Given the description of an element on the screen output the (x, y) to click on. 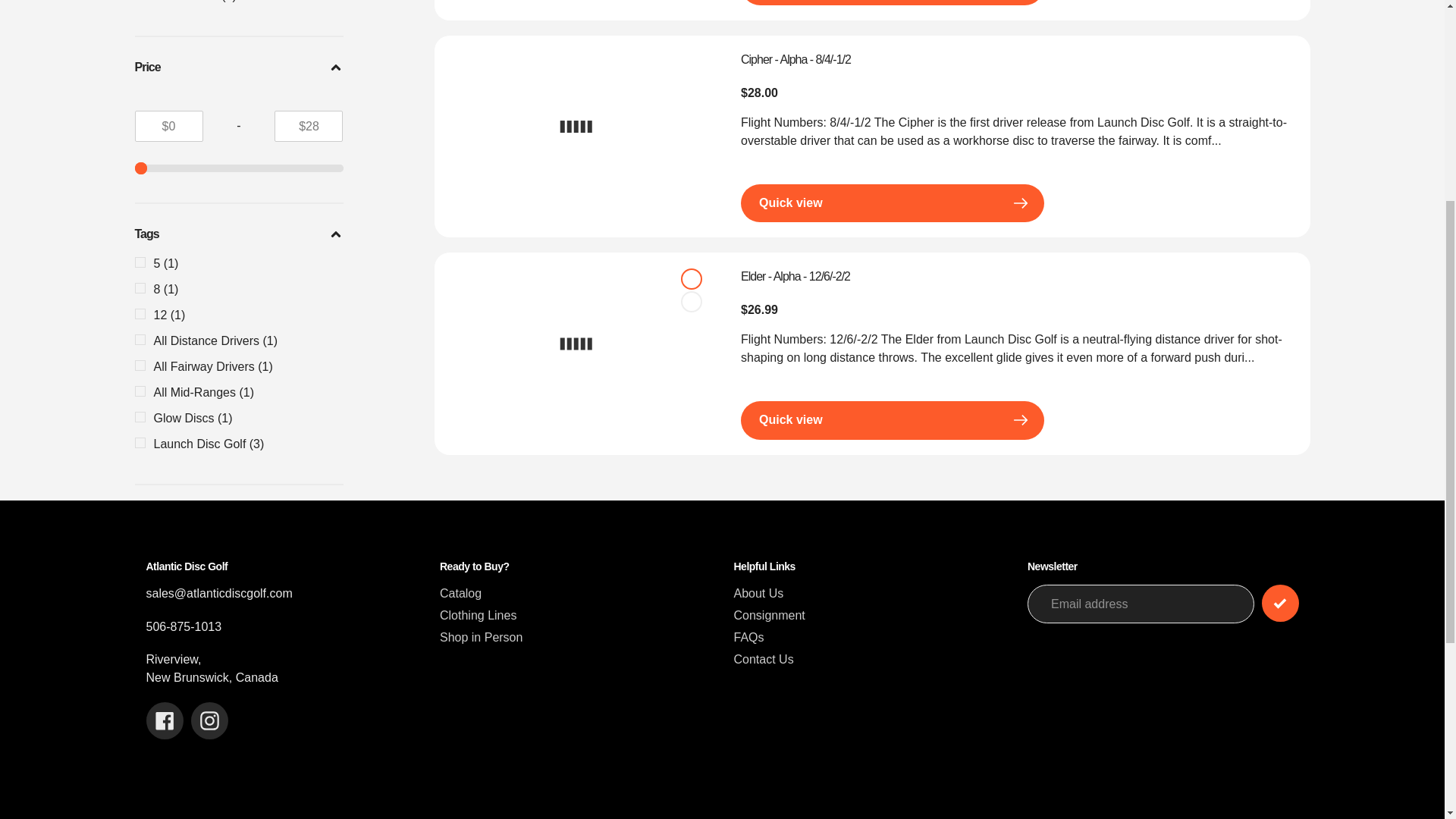
0 (239, 167)
Pink (691, 278)
Red (691, 301)
0 (239, 167)
